Given the description of an element on the screen output the (x, y) to click on. 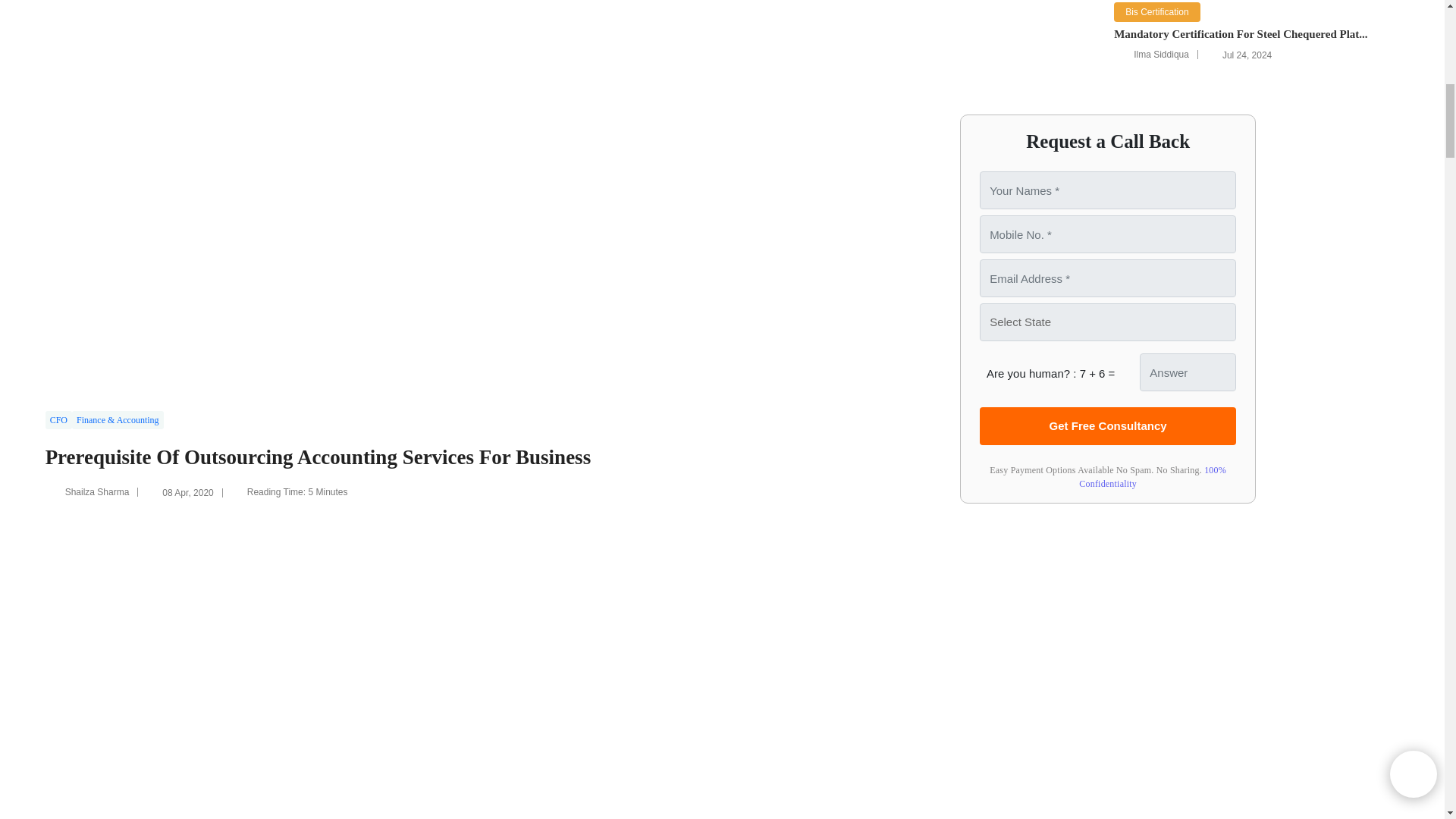
Get Free Consultancy (1107, 426)
Posts by Shailza Sharma (97, 491)
